Given the description of an element on the screen output the (x, y) to click on. 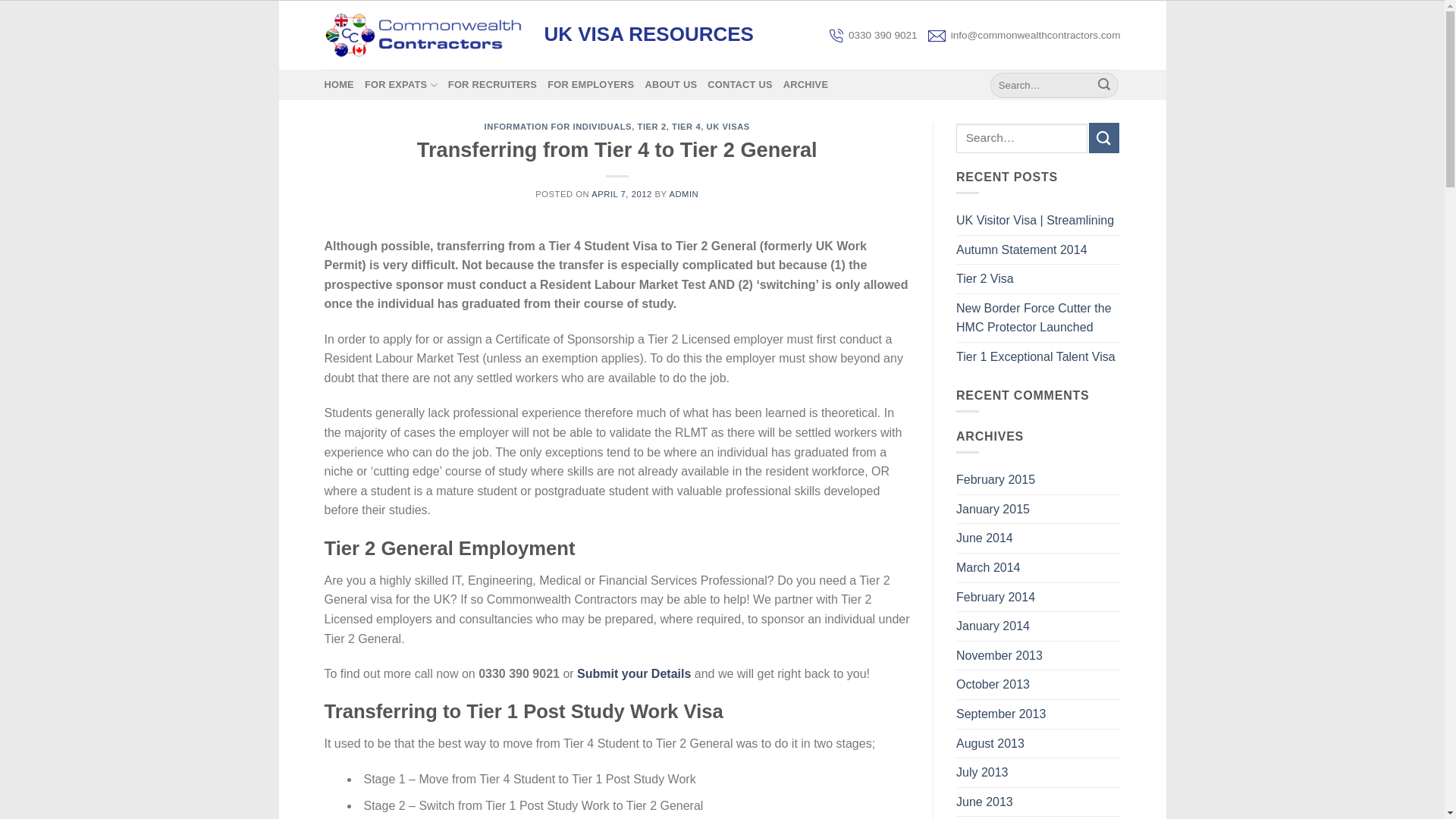
TIER 4 (685, 126)
INFORMATION FOR INDIVIDUALS (557, 126)
ARCHIVE (805, 84)
APRIL 7, 2012 (621, 194)
Submit your Details (633, 673)
CONTACT US (740, 84)
UK VISAS (727, 126)
FOR EMPLOYERS (590, 84)
FOR EXPATS (401, 84)
HOME (338, 84)
FOR RECRUITERS (492, 84)
ABOUT US (671, 84)
TIER 2 (651, 126)
Contact Us (633, 673)
ADMIN (683, 194)
